Given the description of an element on the screen output the (x, y) to click on. 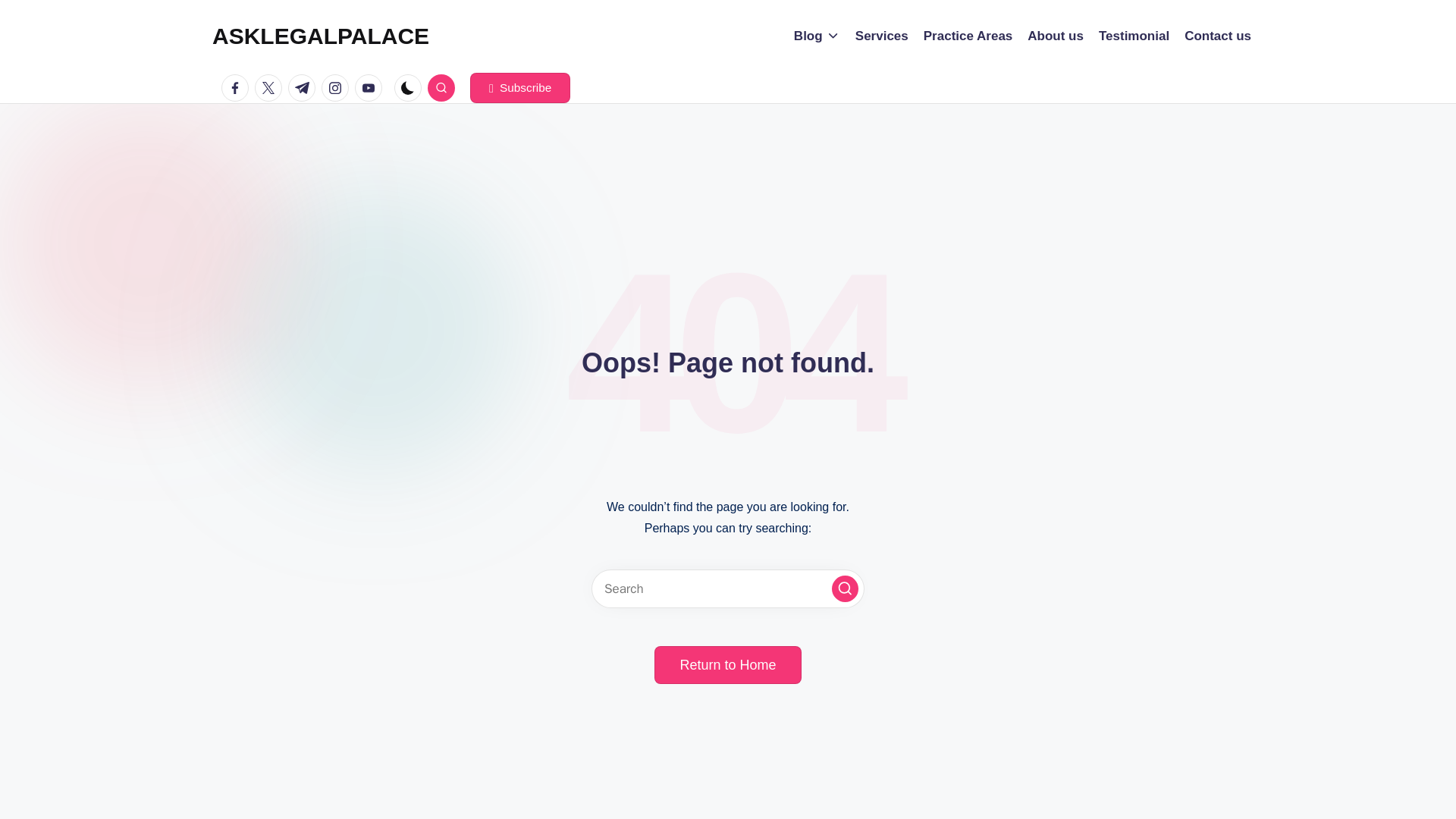
facebook.com (237, 87)
About us (1055, 36)
Contact us (1217, 36)
Blog (816, 36)
Services (882, 36)
youtube.com (371, 87)
twitter.com (271, 87)
t.me (304, 87)
Return to Home (726, 664)
instagram.com (338, 87)
Practice Areas (968, 36)
ASKLEGALPALACE (320, 36)
Testimonial (1134, 36)
Subscribe (520, 87)
